Given the description of an element on the screen output the (x, y) to click on. 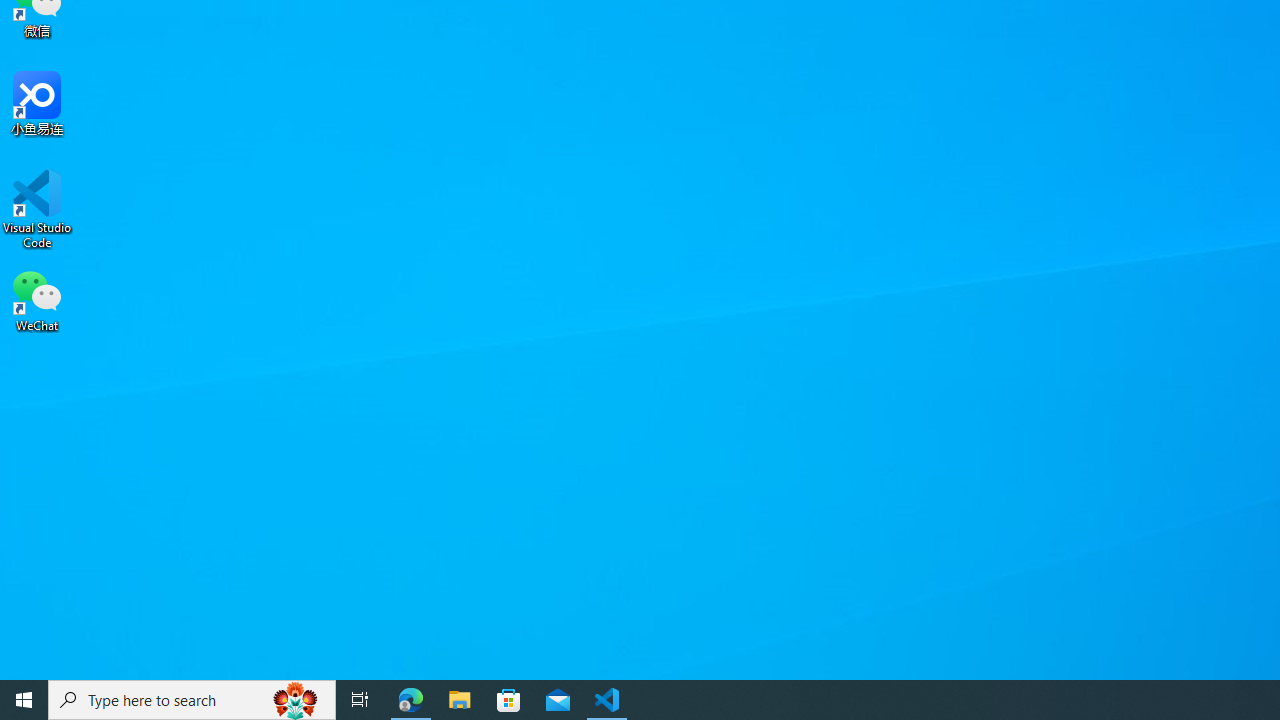
Task View (359, 699)
Type here to search (191, 699)
Microsoft Store (509, 699)
File Explorer (460, 699)
Microsoft Edge - 1 running window (411, 699)
Search highlights icon opens search home window (295, 699)
Start (24, 699)
Visual Studio Code - 1 running window (607, 699)
Visual Studio Code (37, 209)
WeChat (37, 299)
